Given the description of an element on the screen output the (x, y) to click on. 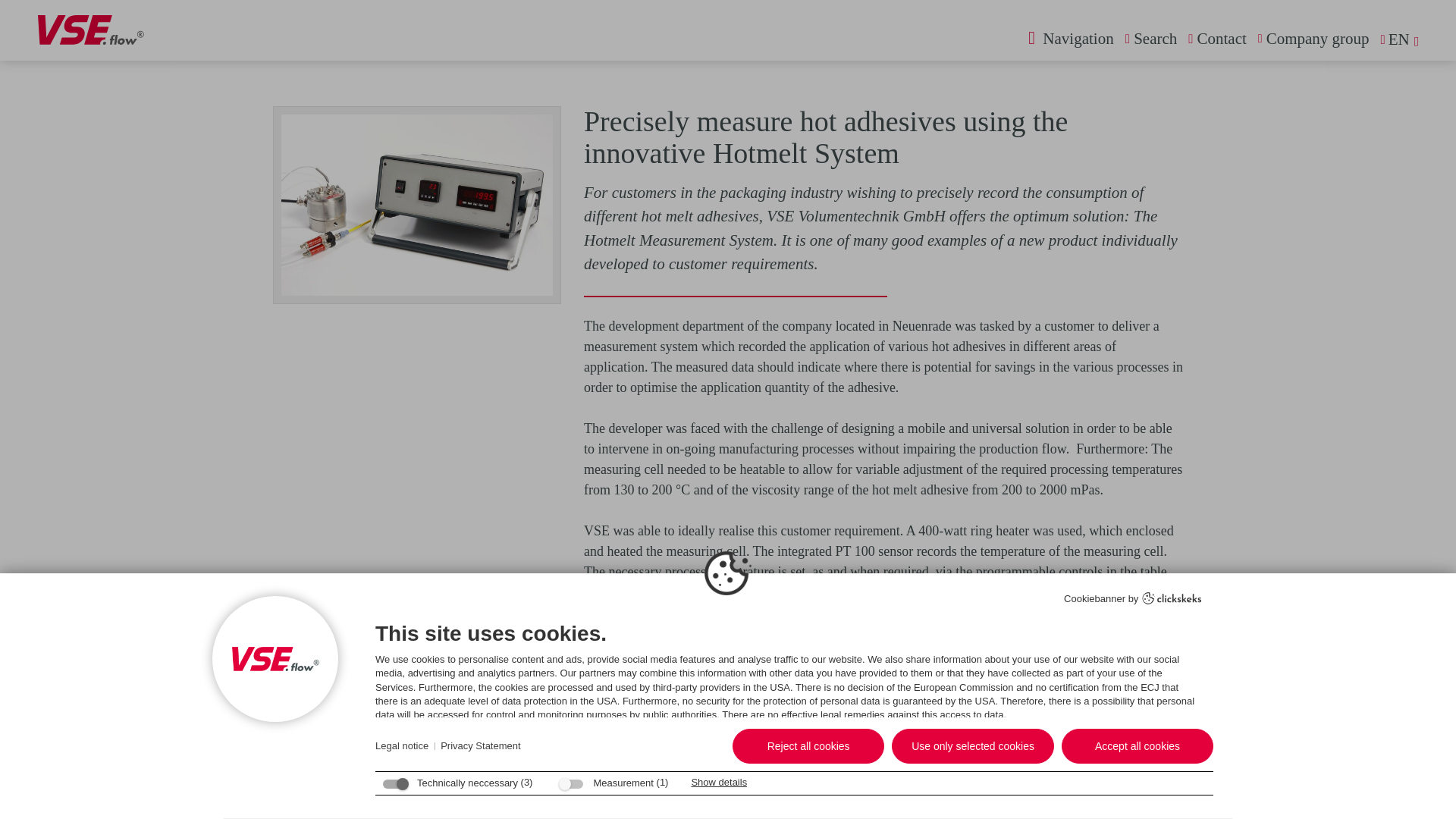
Clickskeks Logo (1171, 598)
Flow meter manufacturer (1217, 38)
Clickskeks (1171, 600)
Company group (1313, 38)
